Given the description of an element on the screen output the (x, y) to click on. 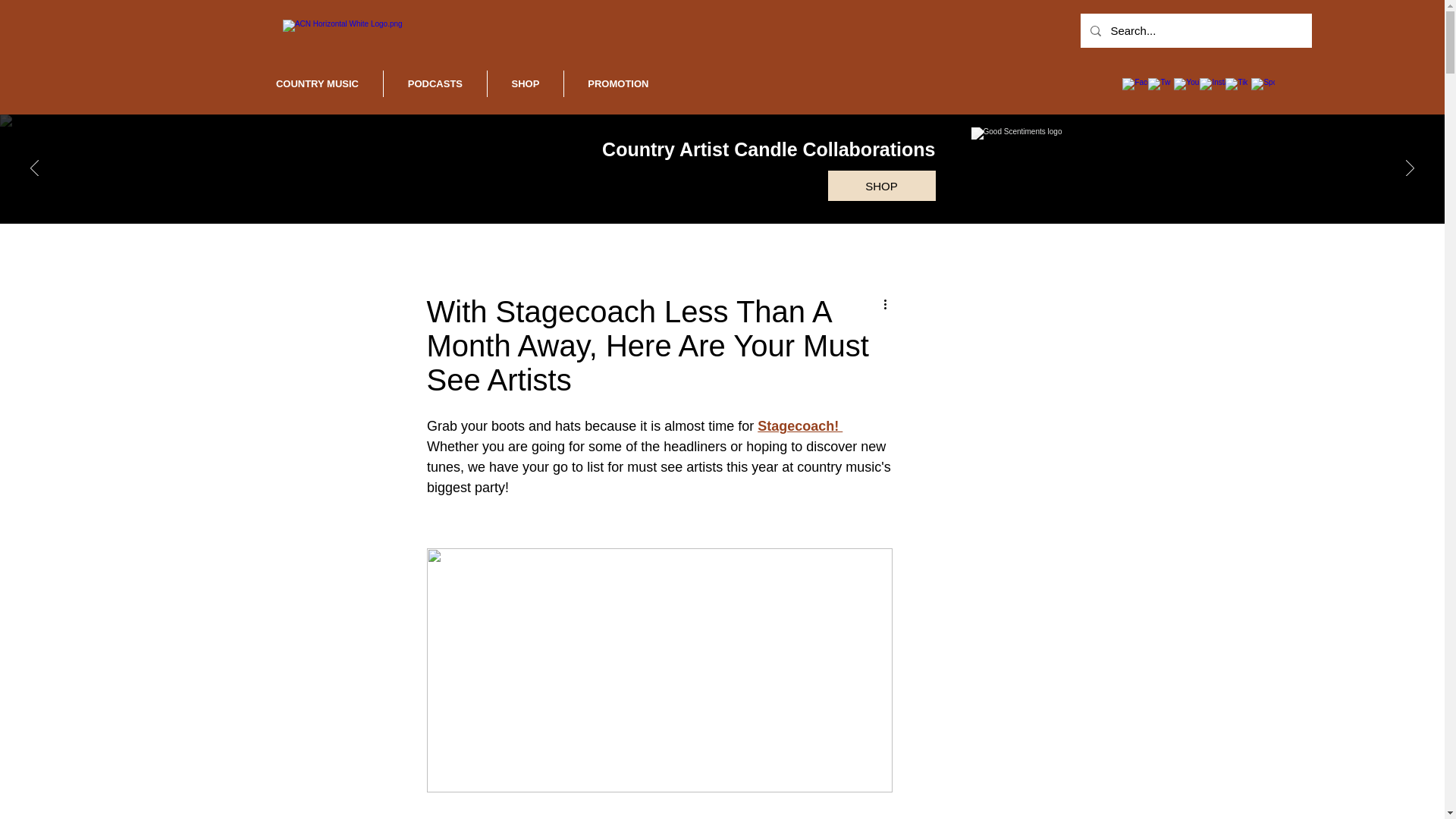
Stagecoach!  (800, 426)
PROMOTION (618, 83)
SHOP (525, 83)
SHOP (882, 185)
COUNTRY MUSIC (316, 83)
